Given the description of an element on the screen output the (x, y) to click on. 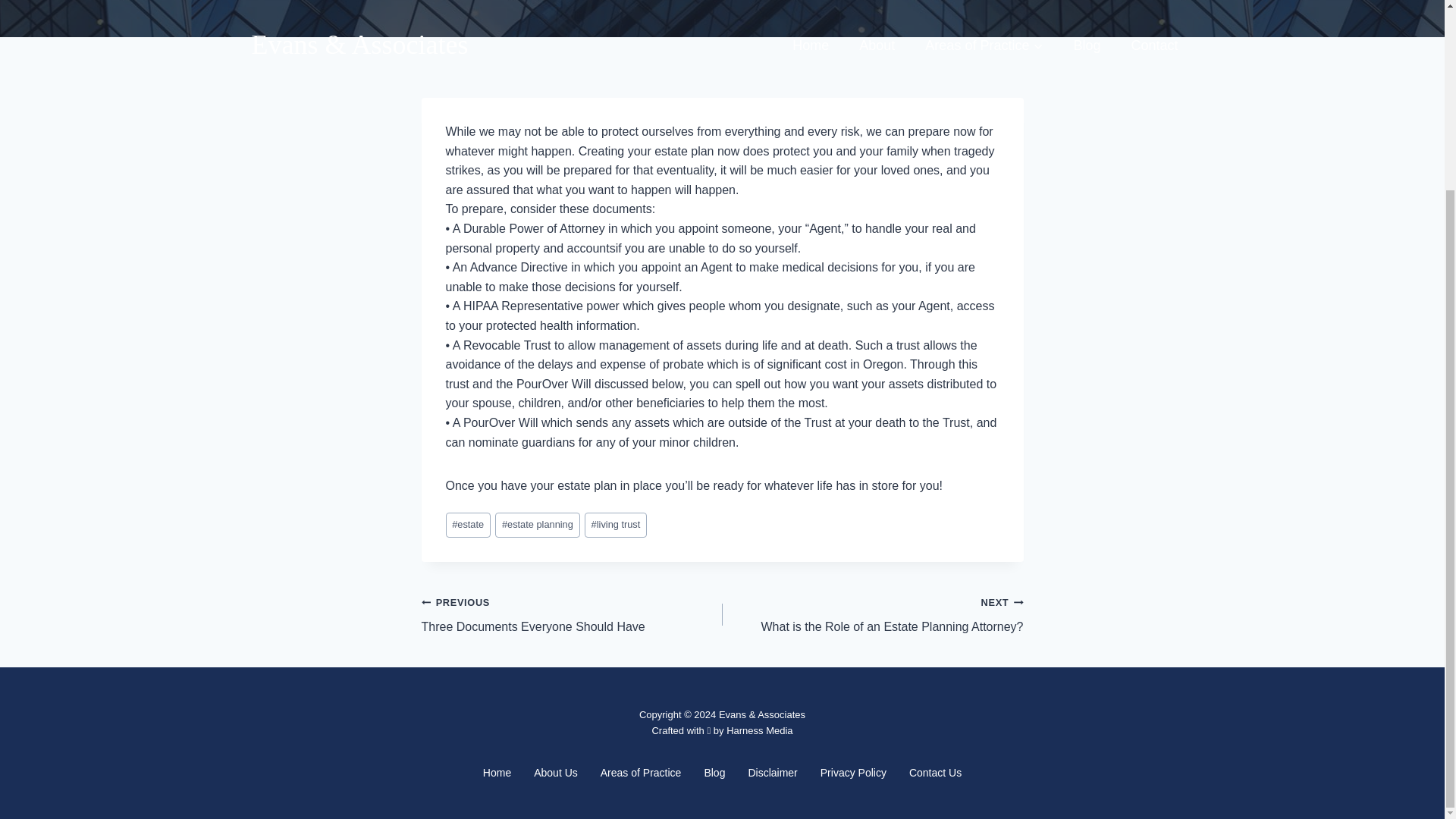
Areas of Practice (641, 772)
estate (467, 524)
estate planning (872, 614)
Privacy Policy (537, 524)
Home (853, 772)
living trust (496, 772)
Contact Us (615, 524)
About Us (935, 772)
Harness Media (555, 772)
